Given the description of an element on the screen output the (x, y) to click on. 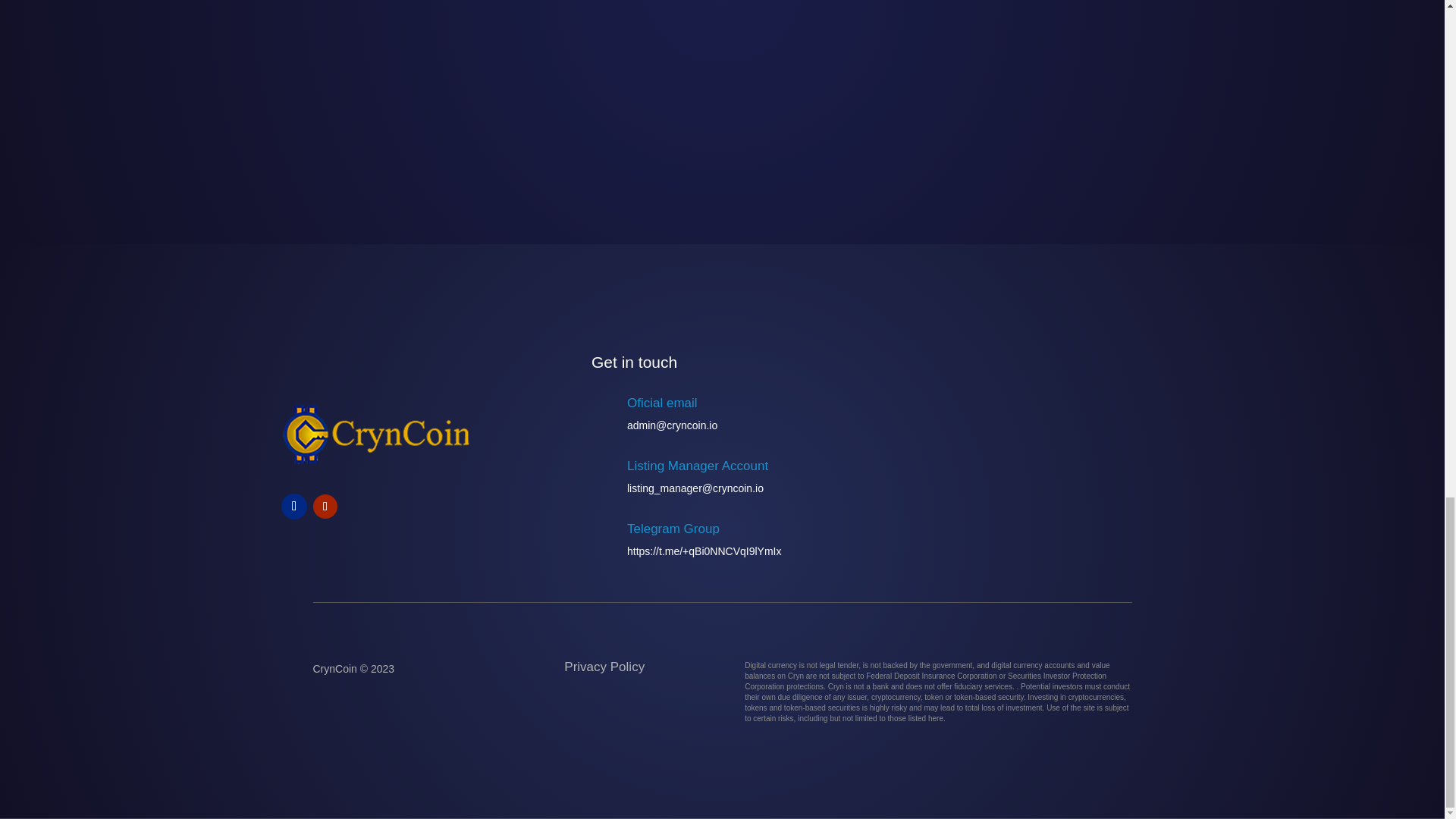
Follow on X (294, 506)
Follow on Youtube (325, 506)
